Given the description of an element on the screen output the (x, y) to click on. 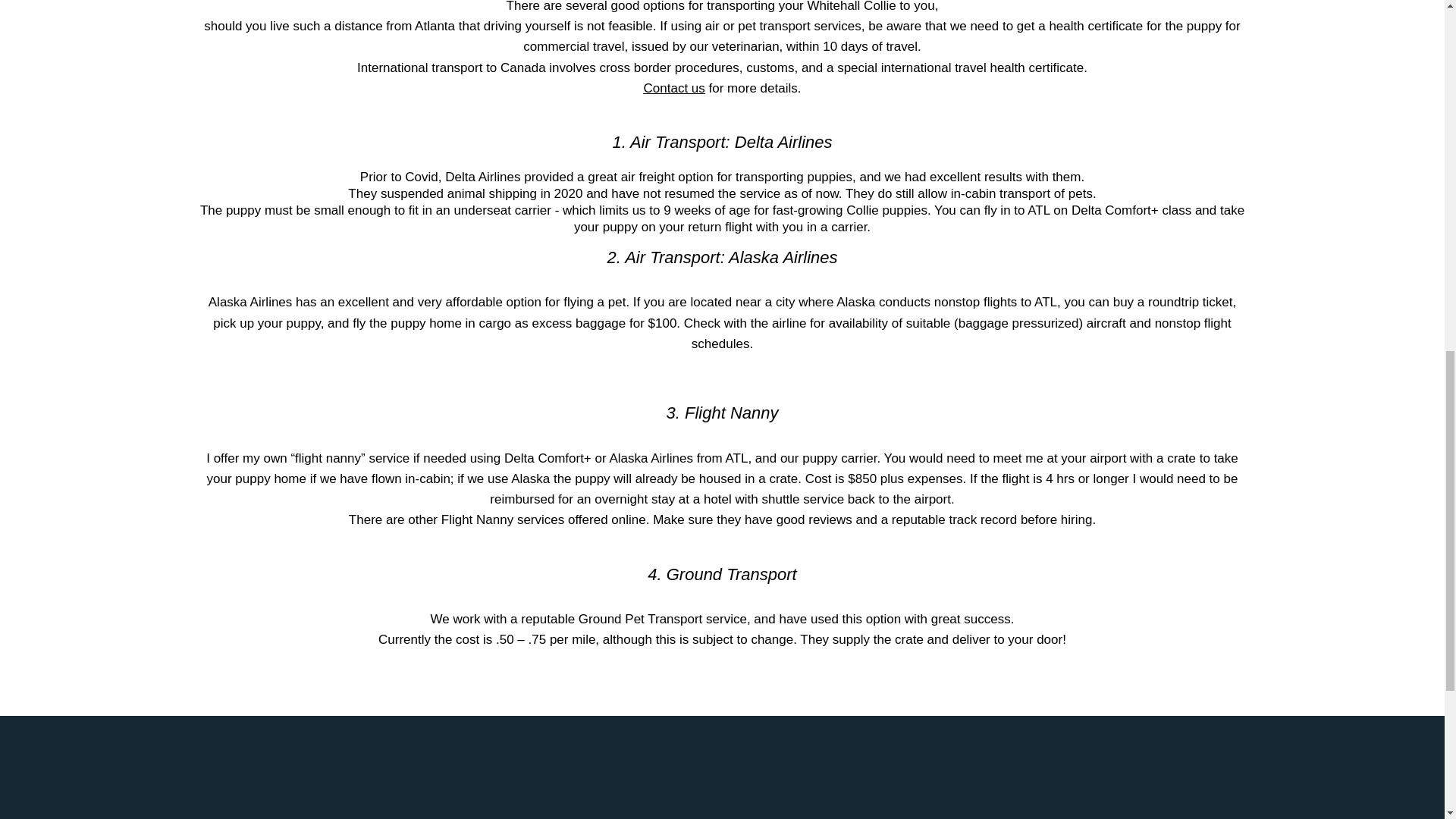
Contact us (673, 88)
